Given the description of an element on the screen output the (x, y) to click on. 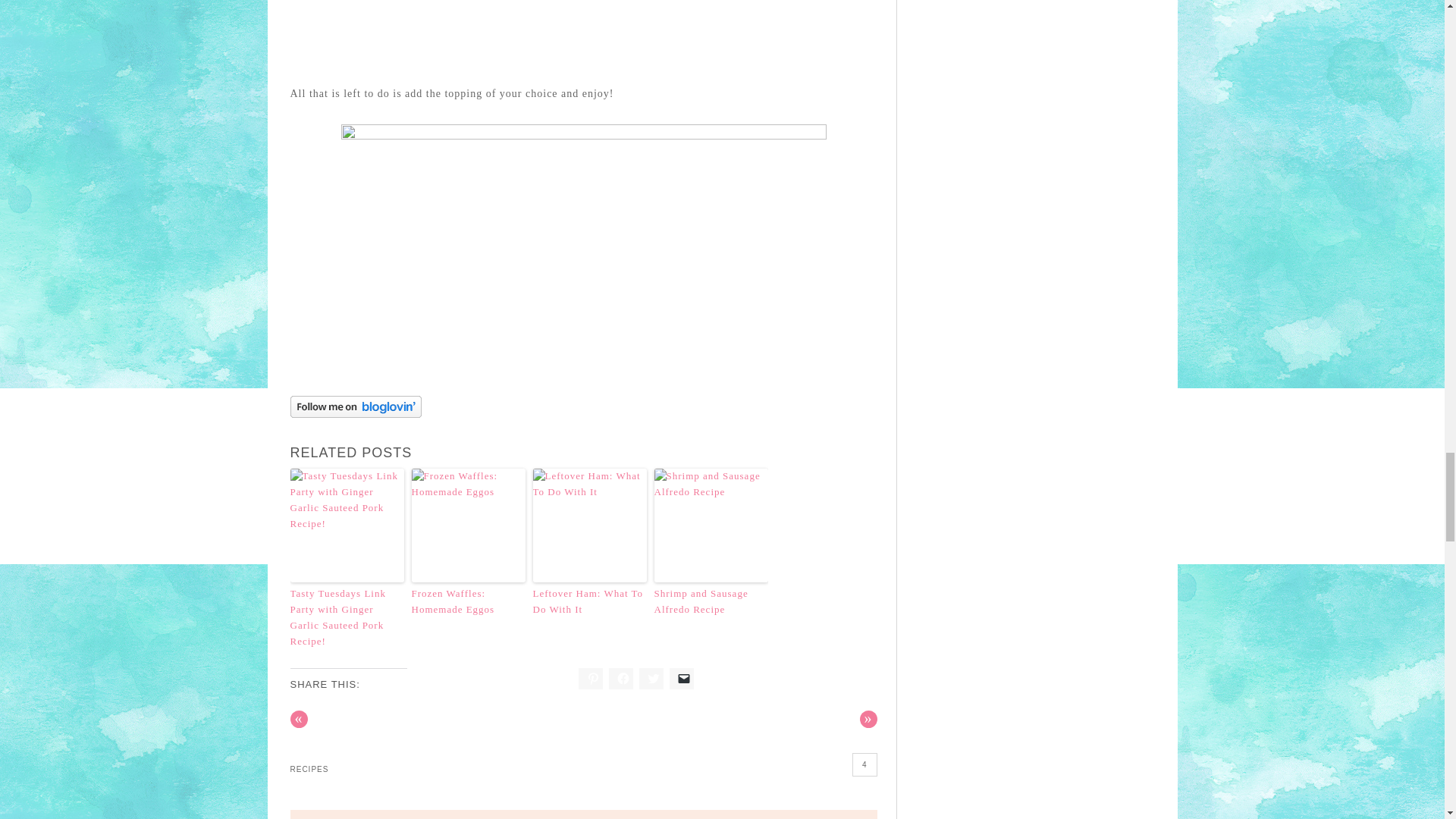
Click to share on Twitter (651, 678)
Click to share on Facebook (620, 678)
Click to share on Pinterest (590, 678)
Follow The Bajan Texan on Bloglovin (354, 414)
Click to email a link to a friend (681, 678)
